Given the description of an element on the screen output the (x, y) to click on. 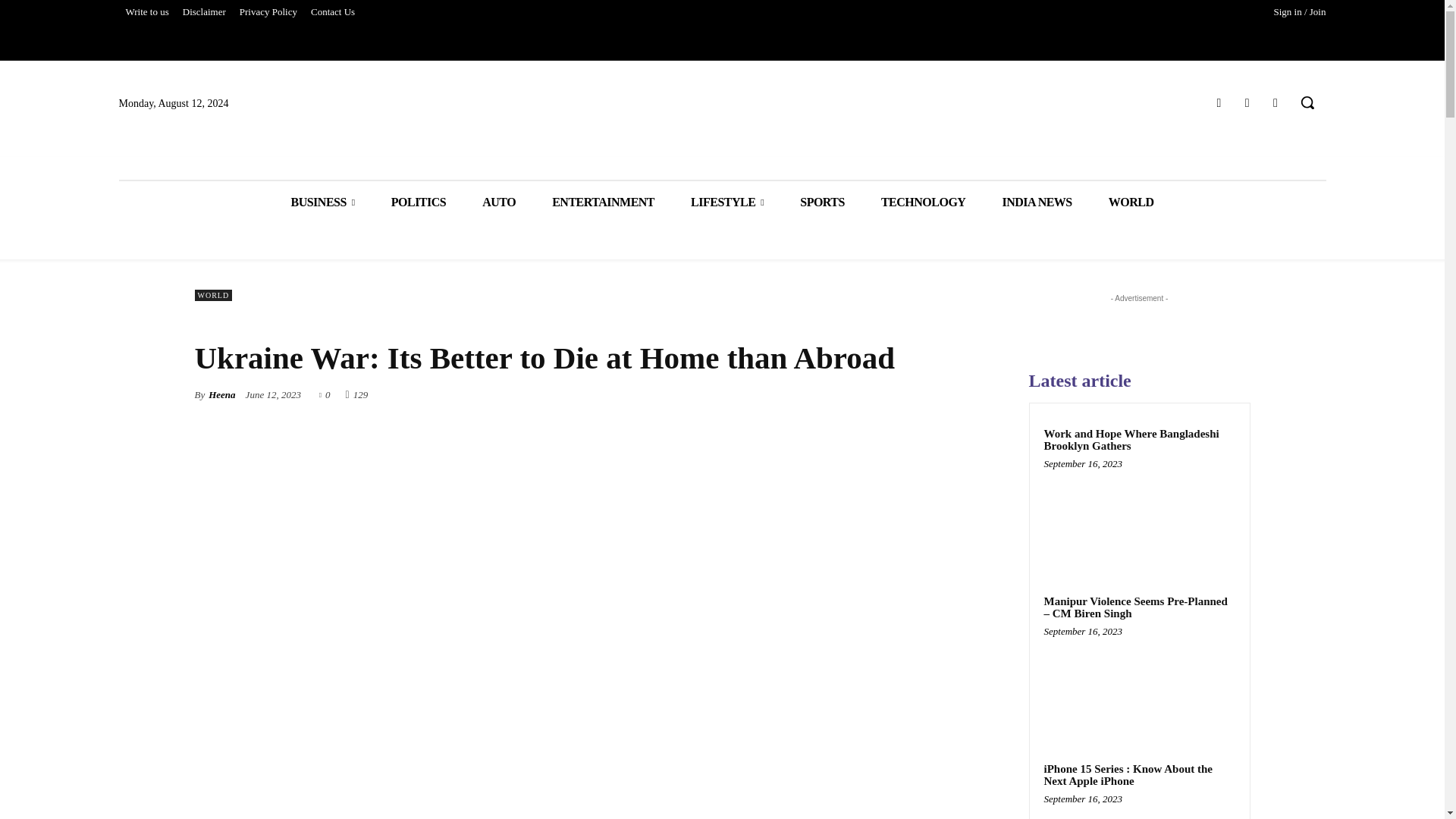
Instagram (1246, 102)
Privacy Policy (268, 12)
Twitter (1275, 102)
Write to us (145, 12)
Disclaimer (204, 12)
Contact Us (332, 12)
BUSINESS (322, 201)
Facebook (1218, 102)
